Given the description of an element on the screen output the (x, y) to click on. 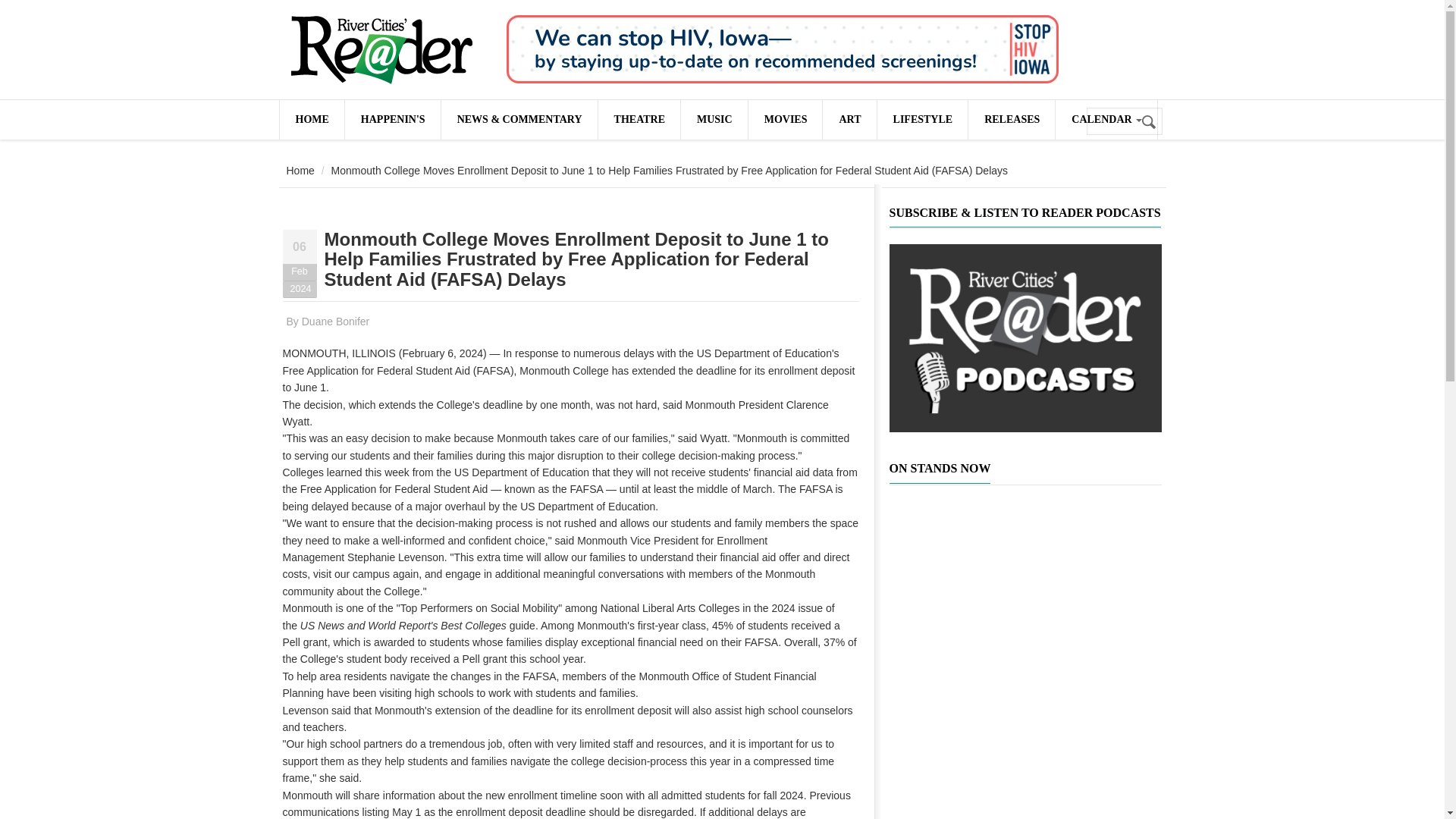
Home page (311, 119)
LIFESTYLE (922, 119)
Music (714, 119)
RELEASES (1011, 119)
News Releases (1011, 119)
Search (1149, 122)
Lifestyle (922, 119)
Home (381, 49)
Movies (785, 119)
Home (300, 170)
